Given the description of an element on the screen output the (x, y) to click on. 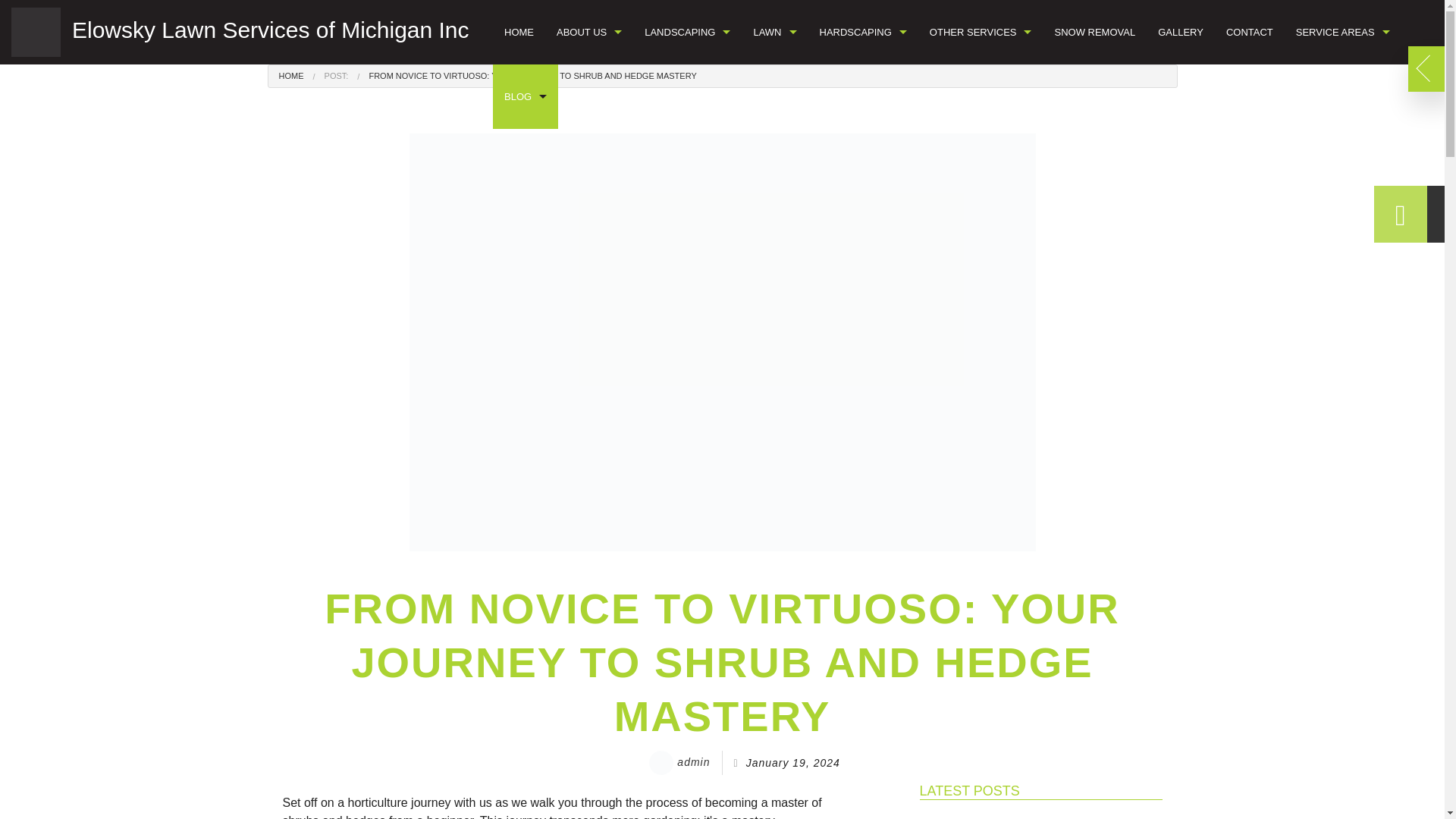
ABOUT US (588, 32)
LAWN (774, 32)
HARDSCAPING (863, 32)
LANDSCAPING (687, 32)
SNOW REMOVAL (1094, 32)
OTHER SERVICES (980, 32)
Elowsky Lawn Services of Michigan Inc (239, 31)
SERVICE AREAS (1342, 32)
GALLERY (1180, 32)
CONTACT (1249, 32)
